Given the description of an element on the screen output the (x, y) to click on. 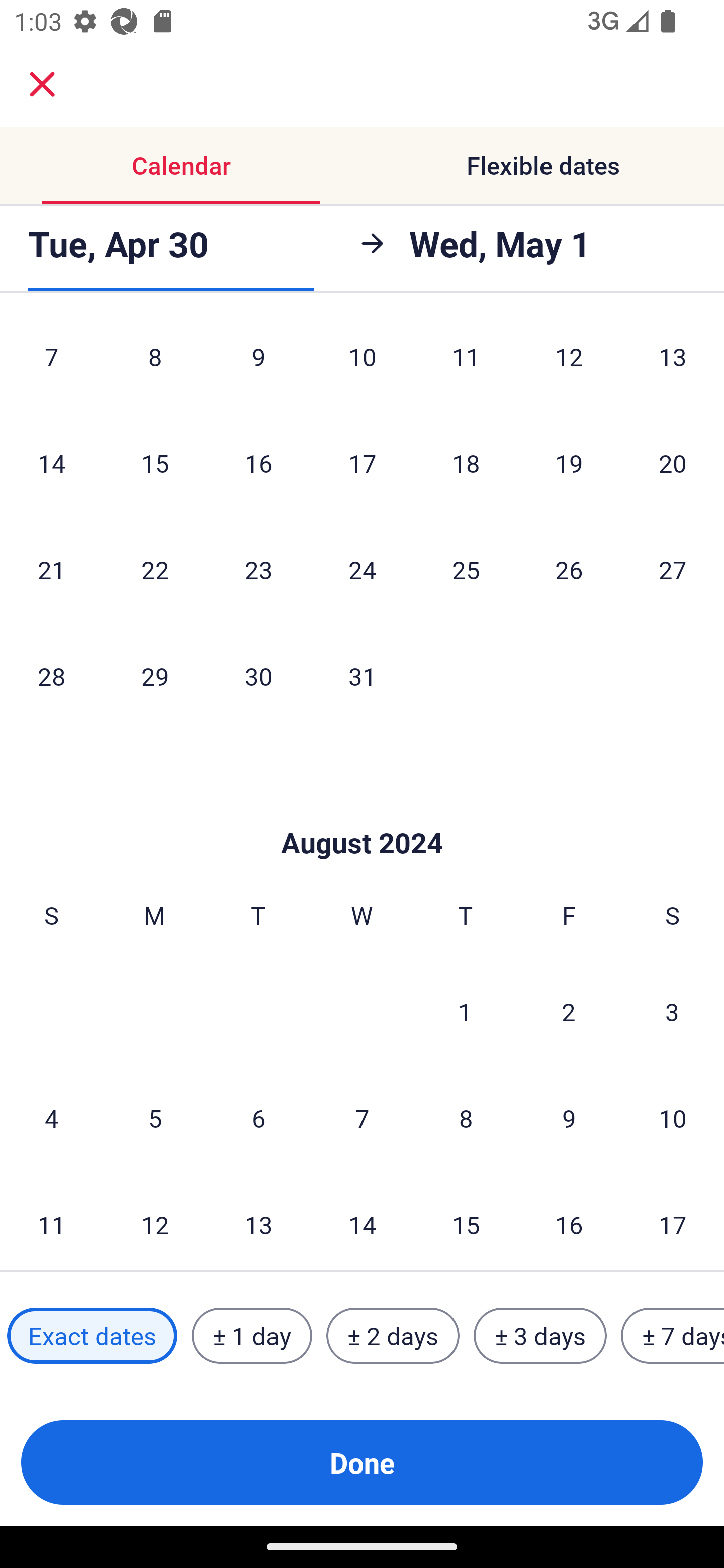
close. (42, 84)
Flexible dates (542, 164)
7 Sunday, July 7, 2024 (51, 364)
8 Monday, July 8, 2024 (155, 364)
9 Tuesday, July 9, 2024 (258, 364)
10 Wednesday, July 10, 2024 (362, 364)
11 Thursday, July 11, 2024 (465, 364)
12 Friday, July 12, 2024 (569, 364)
13 Saturday, July 13, 2024 (672, 364)
14 Sunday, July 14, 2024 (51, 462)
15 Monday, July 15, 2024 (155, 462)
16 Tuesday, July 16, 2024 (258, 462)
17 Wednesday, July 17, 2024 (362, 462)
18 Thursday, July 18, 2024 (465, 462)
19 Friday, July 19, 2024 (569, 462)
20 Saturday, July 20, 2024 (672, 462)
21 Sunday, July 21, 2024 (51, 568)
22 Monday, July 22, 2024 (155, 568)
23 Tuesday, July 23, 2024 (258, 568)
24 Wednesday, July 24, 2024 (362, 568)
25 Thursday, July 25, 2024 (465, 568)
26 Friday, July 26, 2024 (569, 568)
27 Saturday, July 27, 2024 (672, 568)
28 Sunday, July 28, 2024 (51, 675)
29 Monday, July 29, 2024 (155, 675)
30 Tuesday, July 30, 2024 (258, 675)
31 Wednesday, July 31, 2024 (362, 675)
Skip to Done (362, 813)
1 Thursday, August 1, 2024 (464, 1011)
2 Friday, August 2, 2024 (568, 1011)
3 Saturday, August 3, 2024 (672, 1011)
4 Sunday, August 4, 2024 (51, 1117)
5 Monday, August 5, 2024 (155, 1117)
6 Tuesday, August 6, 2024 (258, 1117)
7 Wednesday, August 7, 2024 (362, 1117)
8 Thursday, August 8, 2024 (465, 1117)
9 Friday, August 9, 2024 (569, 1117)
10 Saturday, August 10, 2024 (672, 1117)
11 Sunday, August 11, 2024 (51, 1221)
12 Monday, August 12, 2024 (155, 1221)
13 Tuesday, August 13, 2024 (258, 1221)
14 Wednesday, August 14, 2024 (362, 1221)
15 Thursday, August 15, 2024 (465, 1221)
16 Friday, August 16, 2024 (569, 1221)
17 Saturday, August 17, 2024 (672, 1221)
Exact dates (92, 1335)
± 1 day (251, 1335)
± 2 days (392, 1335)
± 3 days (539, 1335)
± 7 days (672, 1335)
Done (361, 1462)
